Given the description of an element on the screen output the (x, y) to click on. 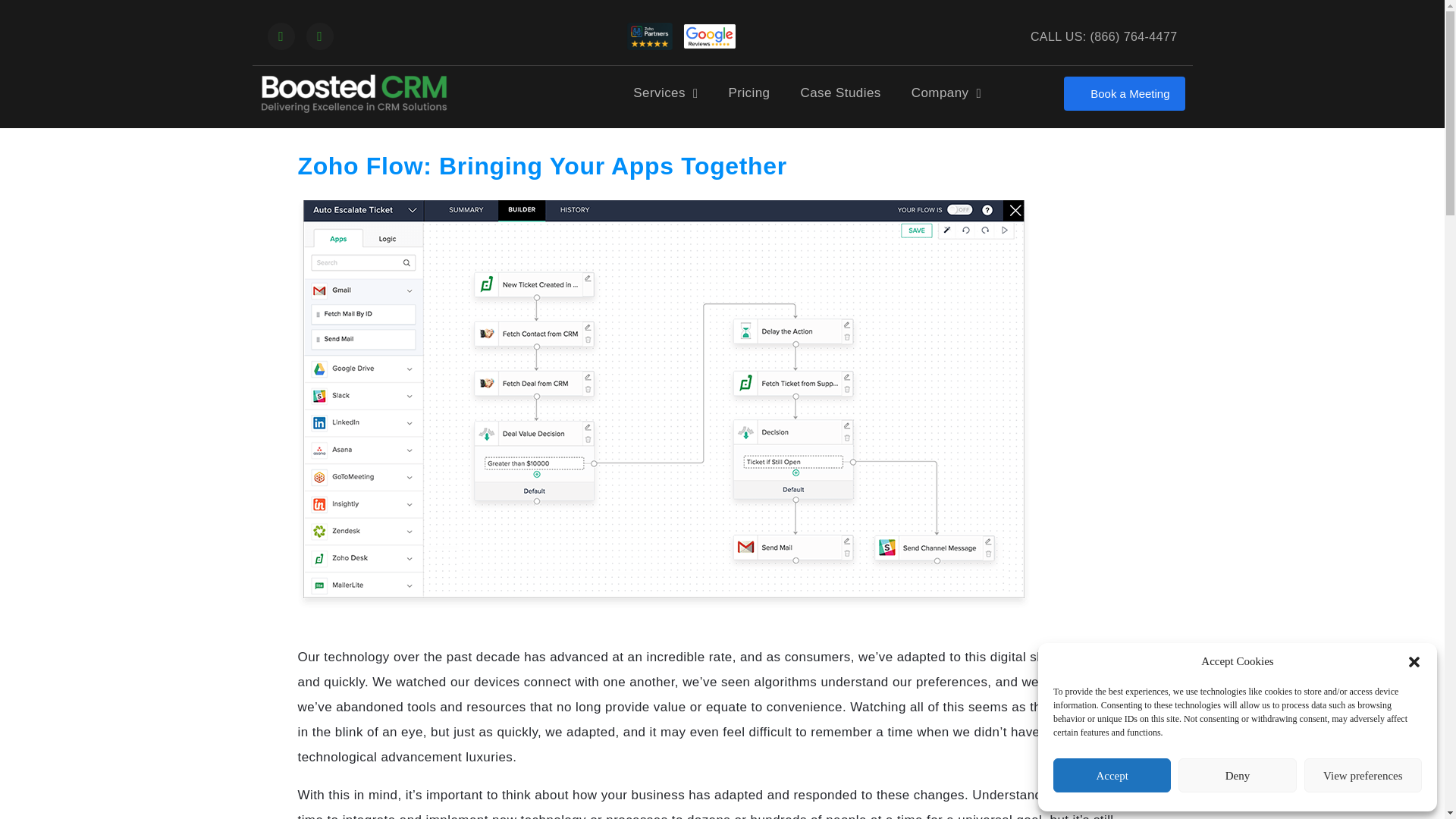
Pricing (749, 93)
Accept (1111, 775)
Services (665, 93)
View preferences (1363, 775)
Deny (1236, 775)
